Given the description of an element on the screen output the (x, y) to click on. 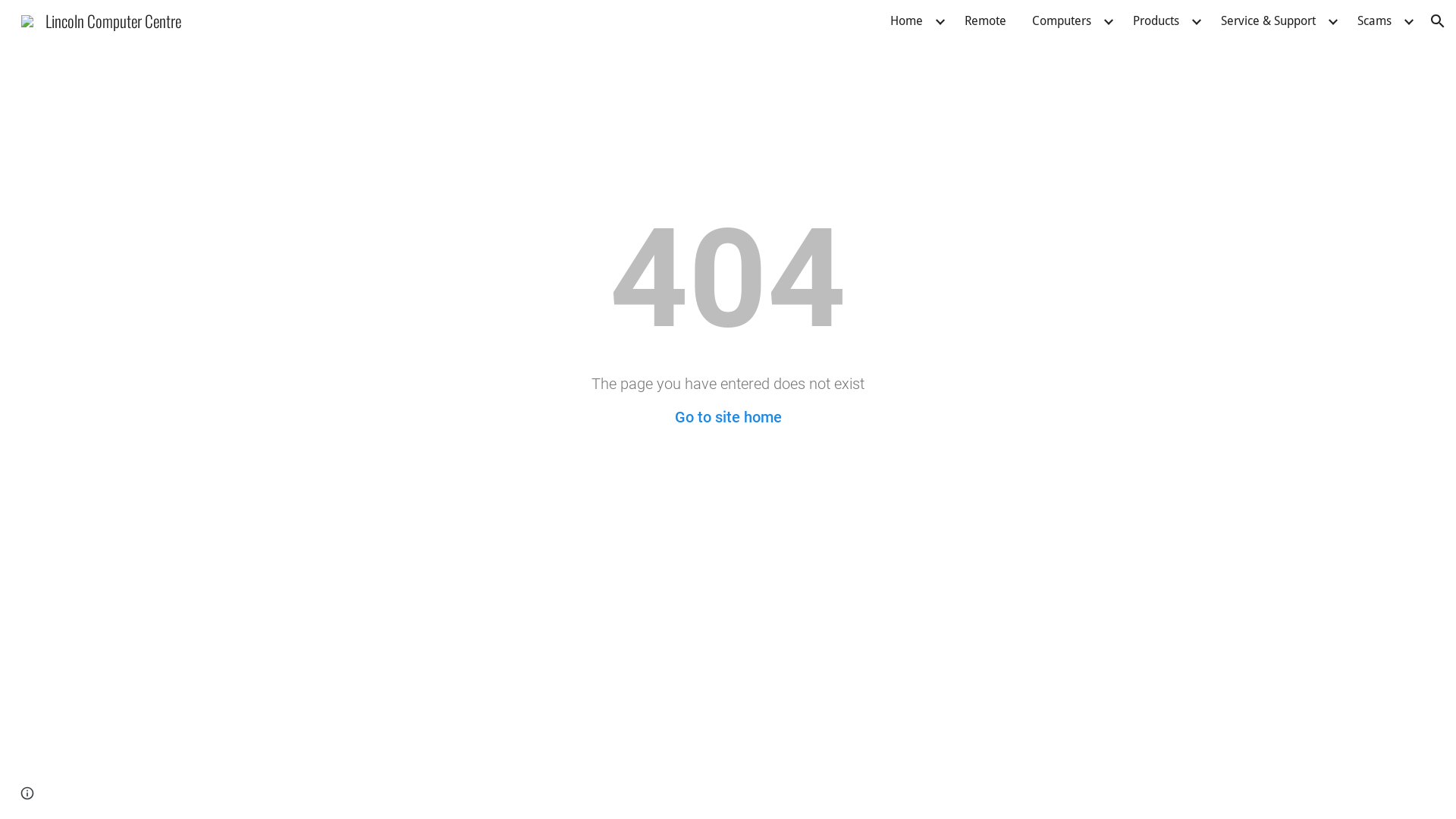
Scams Element type: text (1374, 20)
Products Element type: text (1155, 20)
Home Element type: text (906, 20)
Lincoln Computer Centre Element type: text (101, 18)
Remote Element type: text (985, 20)
Expand/Collapse Element type: hover (939, 20)
Computers Element type: text (1061, 20)
Service & Support Element type: text (1268, 20)
Expand/Collapse Element type: hover (1107, 20)
Expand/Collapse Element type: hover (1195, 20)
Go to site home Element type: text (727, 416)
Expand/Collapse Element type: hover (1408, 20)
Expand/Collapse Element type: hover (1332, 20)
